Given the description of an element on the screen output the (x, y) to click on. 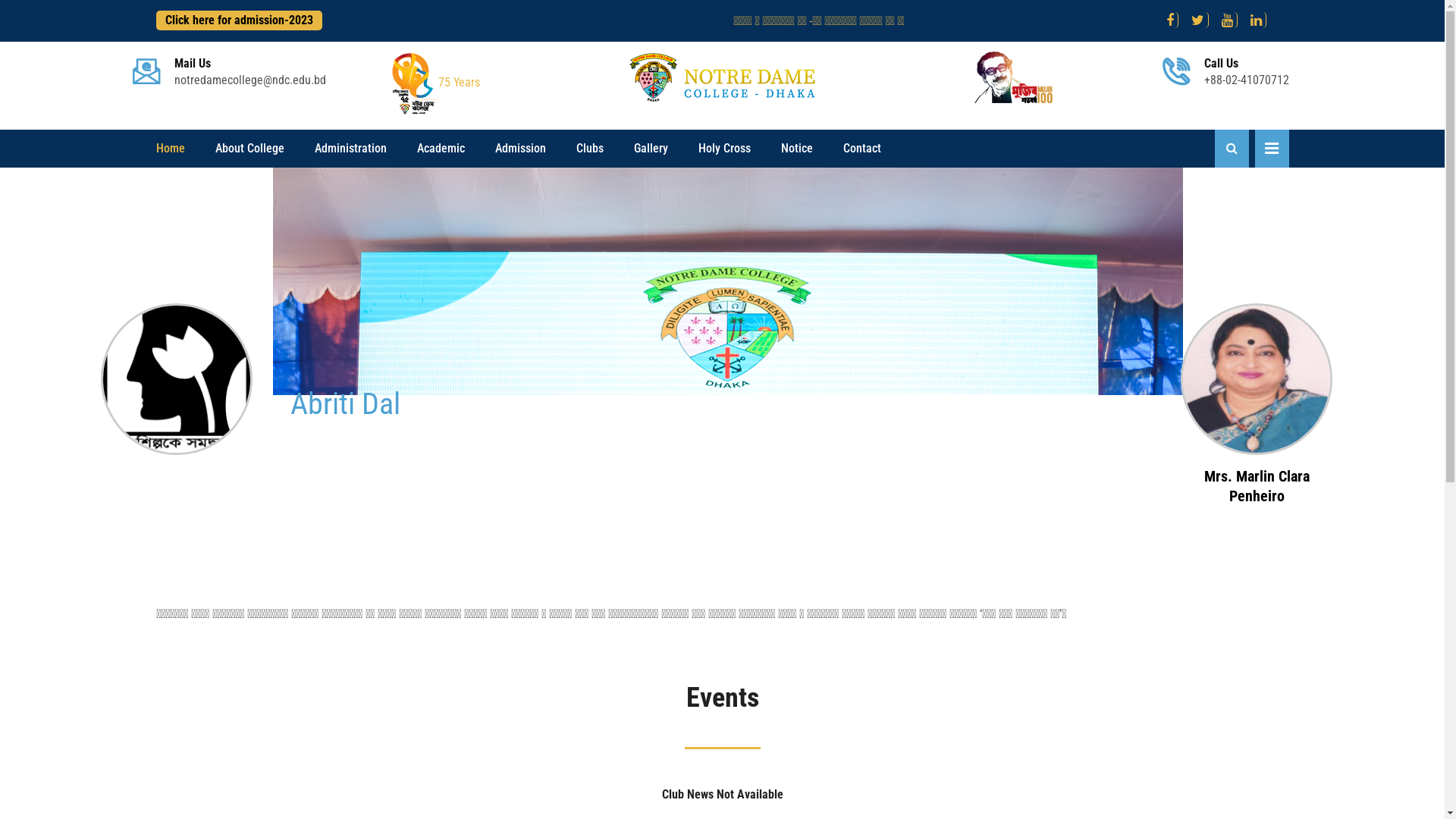
Administration Element type: text (349, 148)
Click here for admission-2023 Element type: text (239, 20)
About College Element type: text (249, 148)
Call Us
+88-02-41070712 Element type: text (1246, 71)
Admission Element type: text (519, 148)
Academic Element type: text (440, 148)
75 Years Element type: text (433, 82)
Gallery Element type: text (650, 148)
Clubs Element type: text (589, 148)
Home Element type: text (170, 148)
Holy Cross Element type: text (723, 148)
Mail Us
notredamecollege@ndc.edu.bd Element type: text (250, 71)
Contact Element type: text (862, 148)
Notice Element type: text (796, 148)
